Given the description of an element on the screen output the (x, y) to click on. 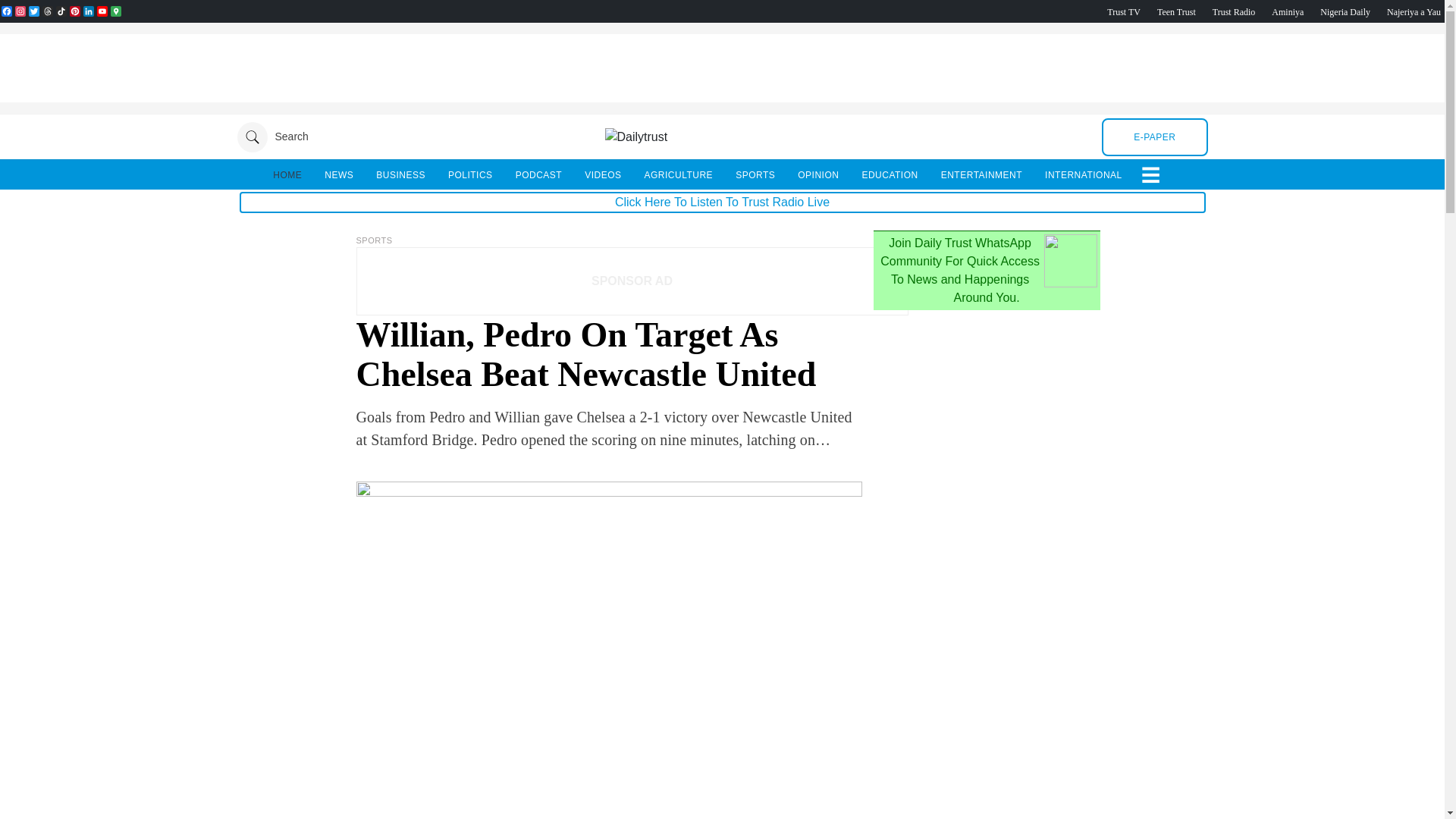
Threads (47, 10)
Trust TV (1123, 11)
TikTok (61, 10)
Search (271, 136)
Najeriya a Yau (1414, 11)
Trust Radio Live (1233, 11)
Instagram (20, 10)
Twitter (33, 10)
E-Paper Subscription (1154, 136)
Teen Trust (1176, 11)
